Given the description of an element on the screen output the (x, y) to click on. 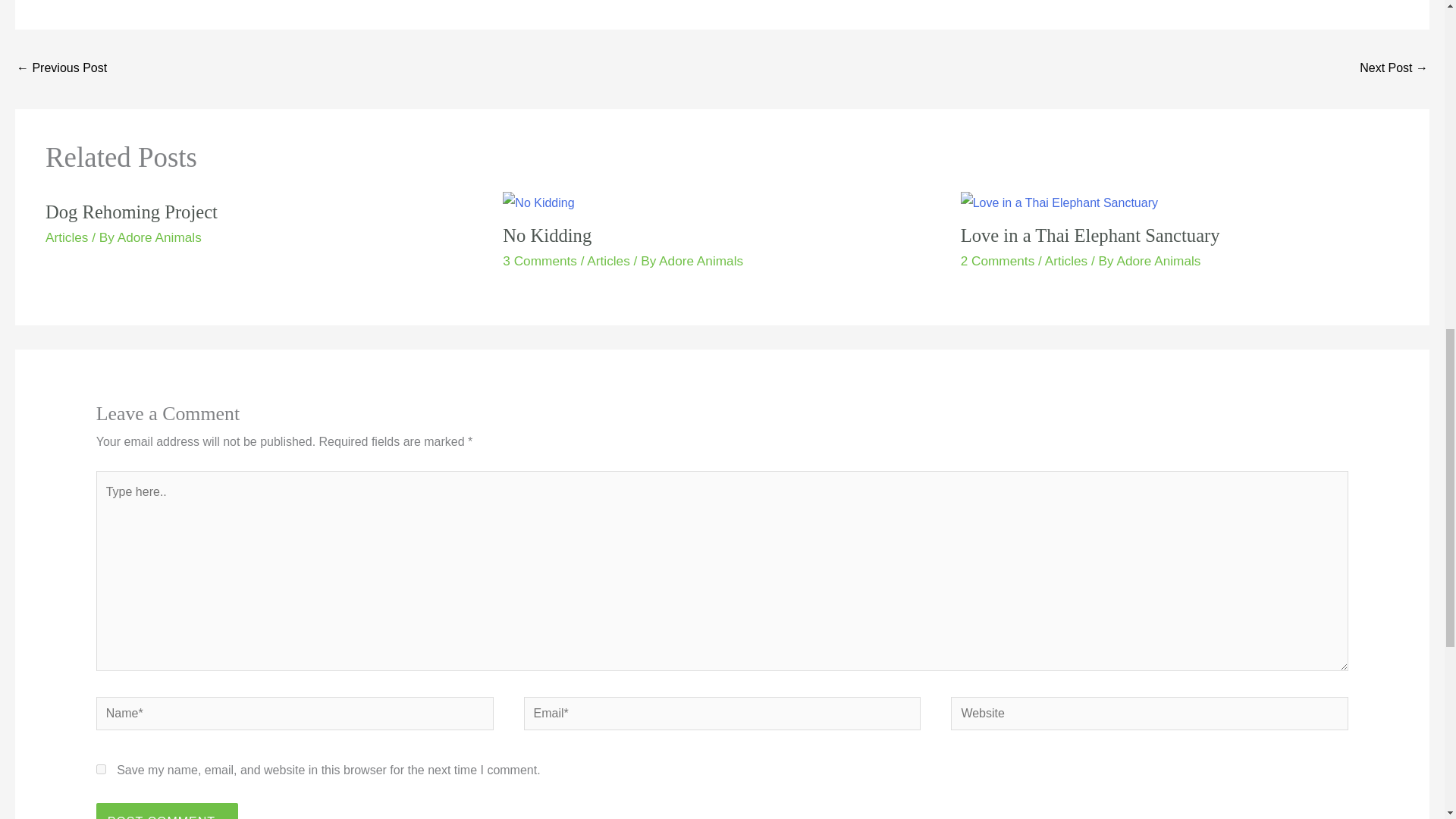
View all posts by Adore Animals (1157, 260)
Articles (607, 260)
No win for vulnerable koala (61, 69)
3 Comments (539, 260)
Whale victory will be monitored (1393, 69)
yes (101, 768)
Dog Rehoming Project (130, 211)
Adore Animals (700, 260)
Adore Animals (159, 237)
Articles (66, 237)
